Given the description of an element on the screen output the (x, y) to click on. 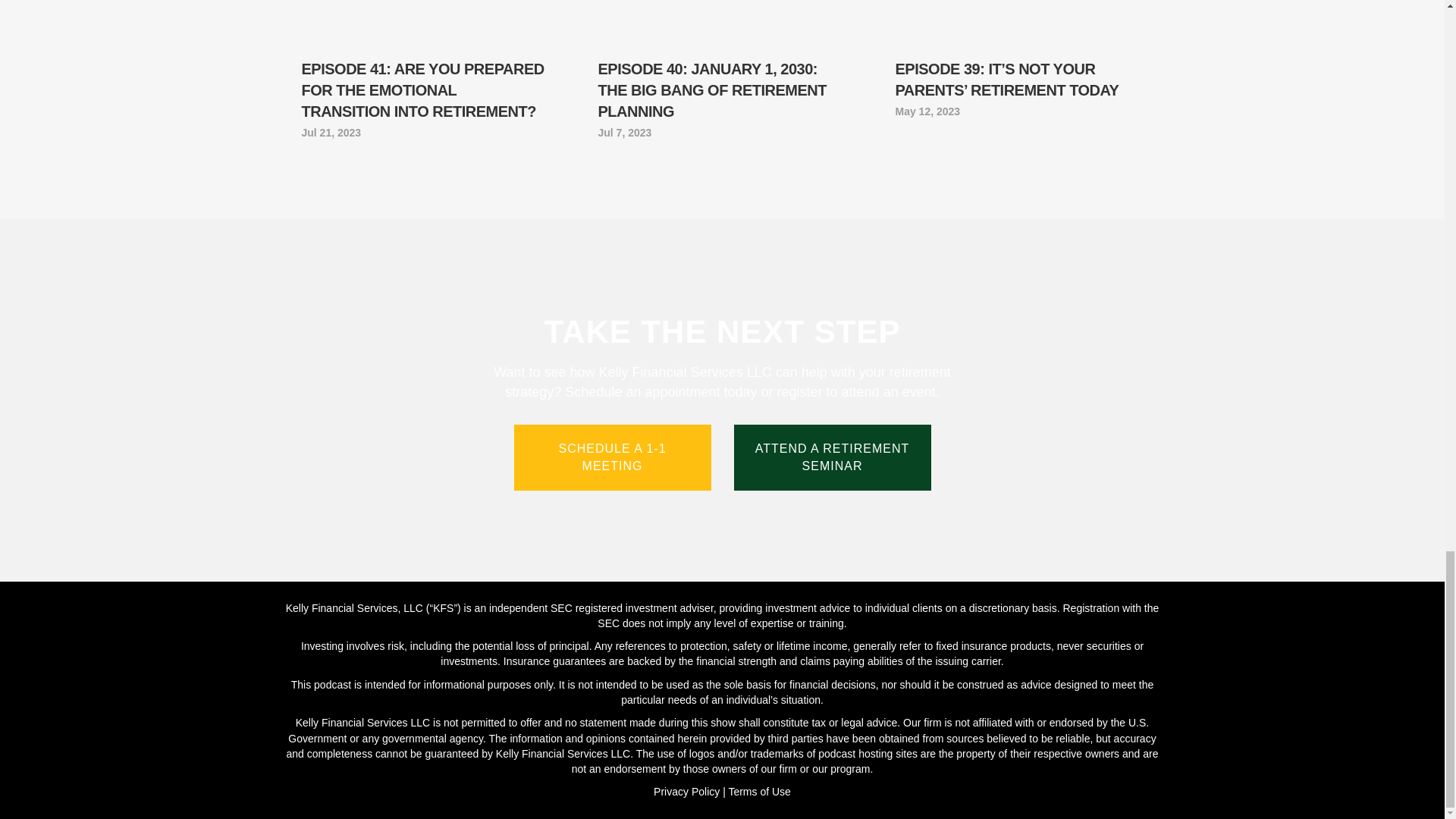
SCHEDULE A 1-1 MEETING (612, 457)
ATTEND A RETIREMENT SEMINAR (832, 457)
Terms of Use (759, 791)
Privacy Policy (686, 791)
